Given the description of an element on the screen output the (x, y) to click on. 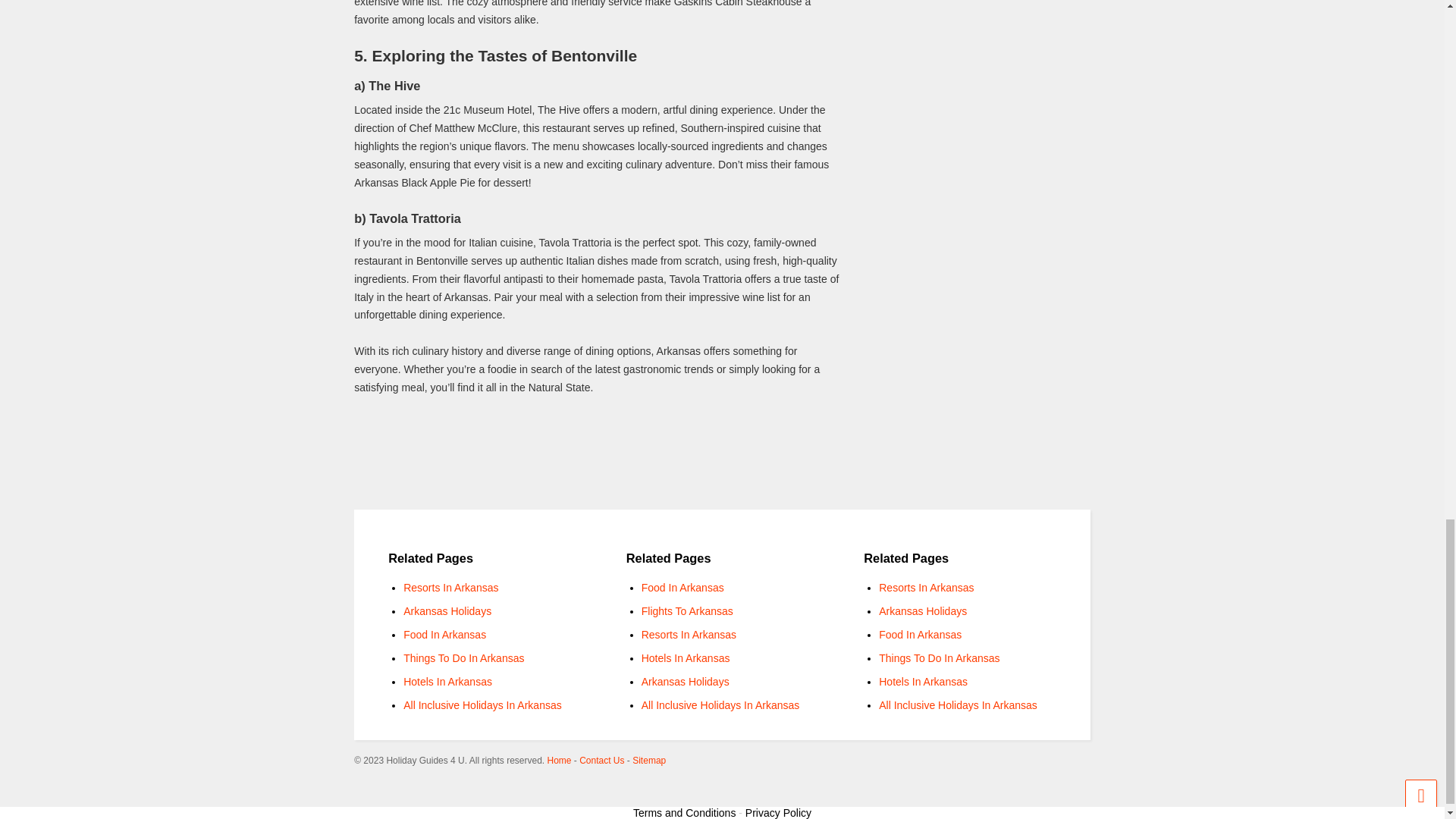
Things To Do In Arkansas (463, 657)
Resorts In Arkansas (926, 587)
Arkansas Holidays (447, 611)
Hotels In Arkansas (447, 681)
All Inclusive Holidays In Arkansas (720, 705)
Resorts In Arkansas (689, 634)
All Inclusive Holidays In Arkansas (957, 705)
Things To Do In Arkansas (938, 657)
Arkansas Holidays (685, 681)
Resorts In Arkansas (450, 587)
